Given the description of an element on the screen output the (x, y) to click on. 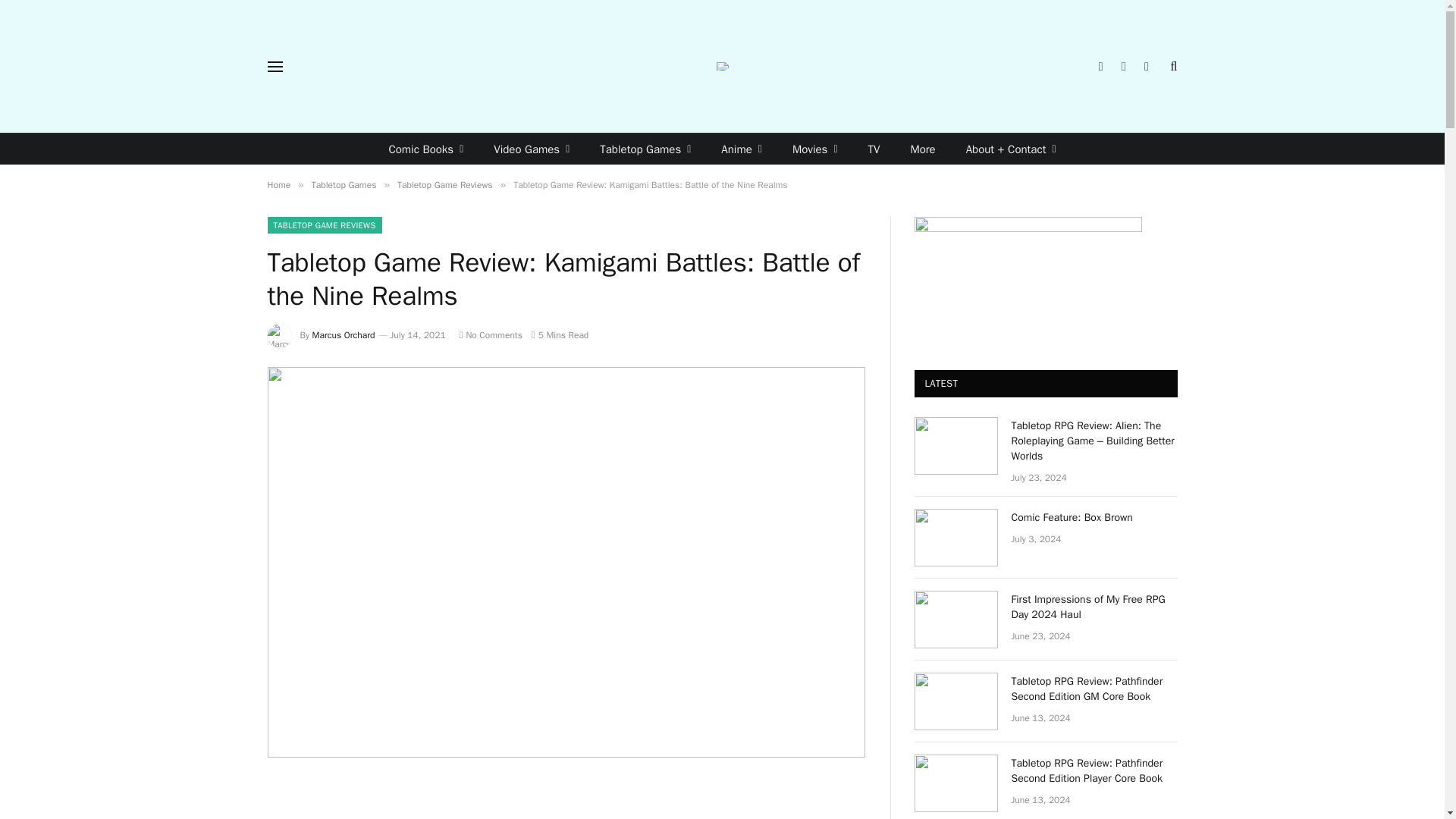
TV (873, 148)
Comic Books (425, 148)
More (922, 148)
Tabletop Games (645, 148)
Movies (815, 148)
Tabletop Games (344, 184)
Video Games (532, 148)
Anime (741, 148)
Home (277, 184)
Posts by Marcus Orchard (344, 335)
